Given the description of an element on the screen output the (x, y) to click on. 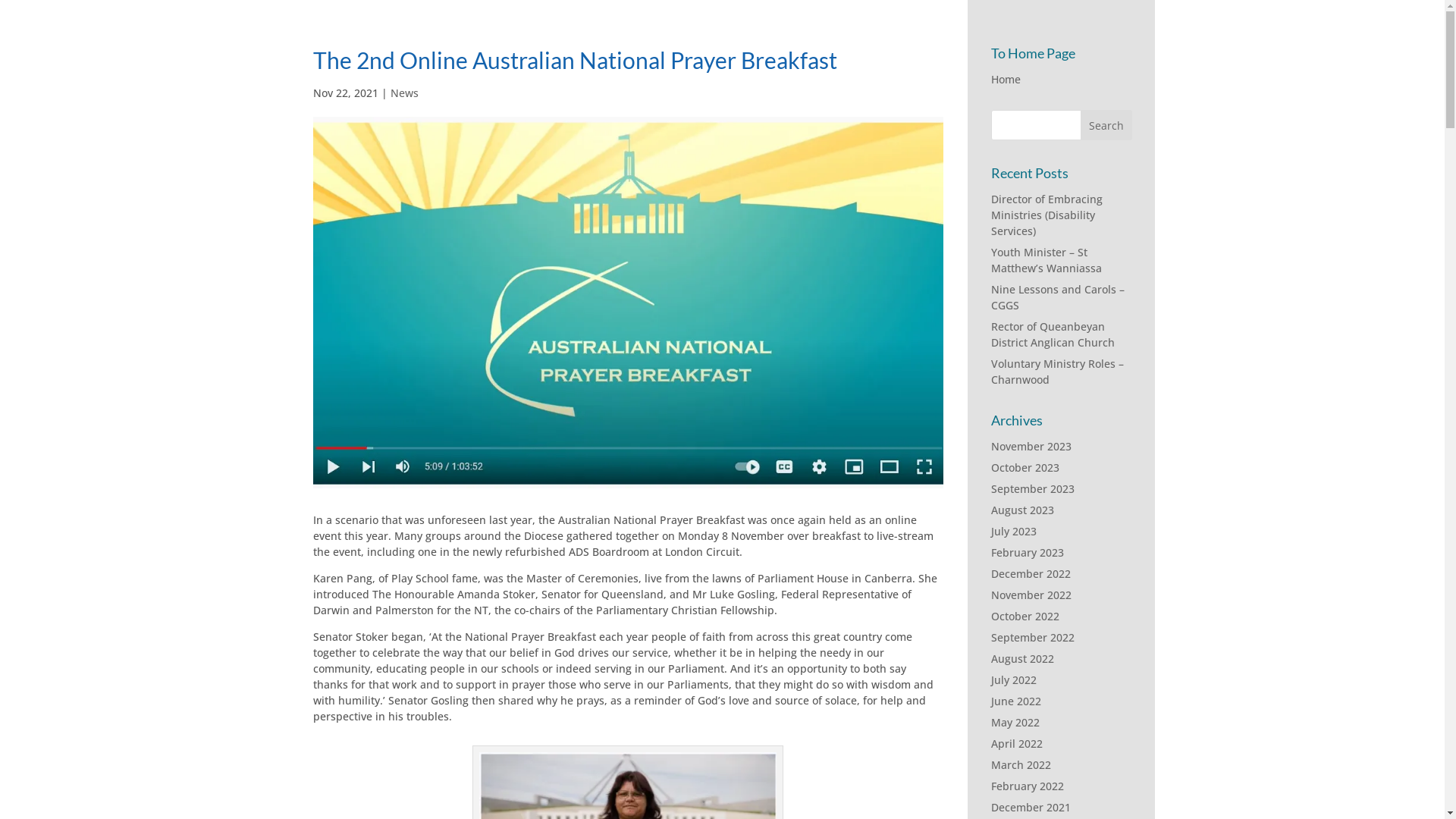
Home Element type: text (1004, 79)
November 2022 Element type: text (1030, 594)
October 2022 Element type: text (1024, 615)
News Element type: text (403, 92)
February 2022 Element type: text (1026, 785)
June 2022 Element type: text (1015, 700)
July 2023 Element type: text (1012, 531)
August 2022 Element type: text (1021, 658)
August 2023 Element type: text (1021, 509)
April 2022 Element type: text (1015, 743)
Rector of Queanbeyan District Anglican Church Element type: text (1051, 334)
November 2023 Element type: text (1030, 446)
July 2022 Element type: text (1012, 679)
Director of Embracing Ministries (Disability Services) Element type: text (1045, 214)
October 2023 Element type: text (1024, 467)
September 2022 Element type: text (1031, 637)
Search Element type: text (1106, 124)
March 2022 Element type: text (1020, 764)
December 2022 Element type: text (1030, 573)
December 2021 Element type: text (1030, 807)
May 2022 Element type: text (1014, 722)
February 2023 Element type: text (1026, 552)
September 2023 Element type: text (1031, 488)
